Given the description of an element on the screen output the (x, y) to click on. 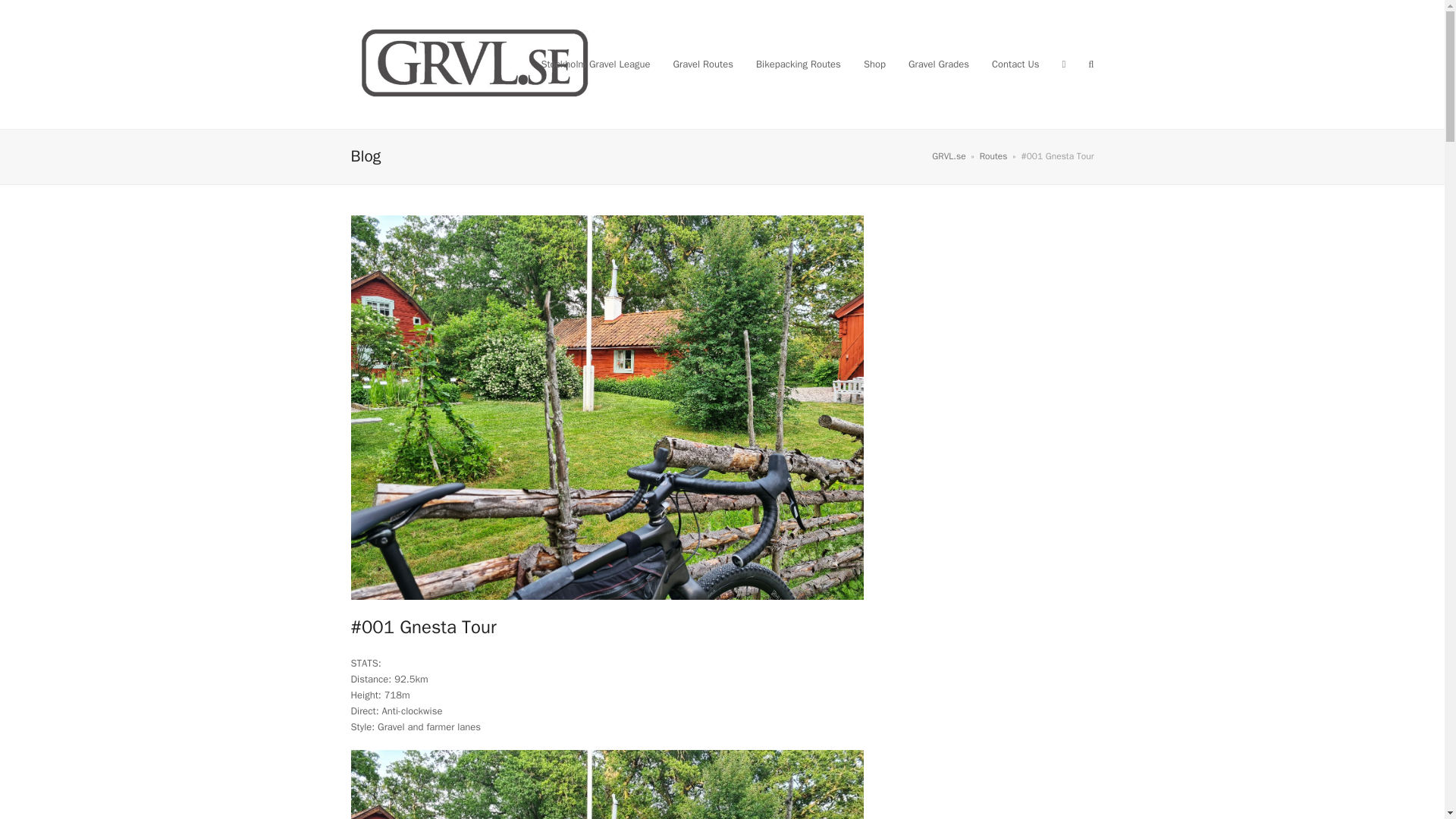
GRVL.se (948, 155)
Contact Us (1015, 64)
Stockholm Gravel League (595, 64)
Routes (993, 155)
Bikepacking Routes (797, 64)
Shop (873, 64)
Gravel Routes (703, 64)
Gravel Grades (937, 64)
